Given the description of an element on the screen output the (x, y) to click on. 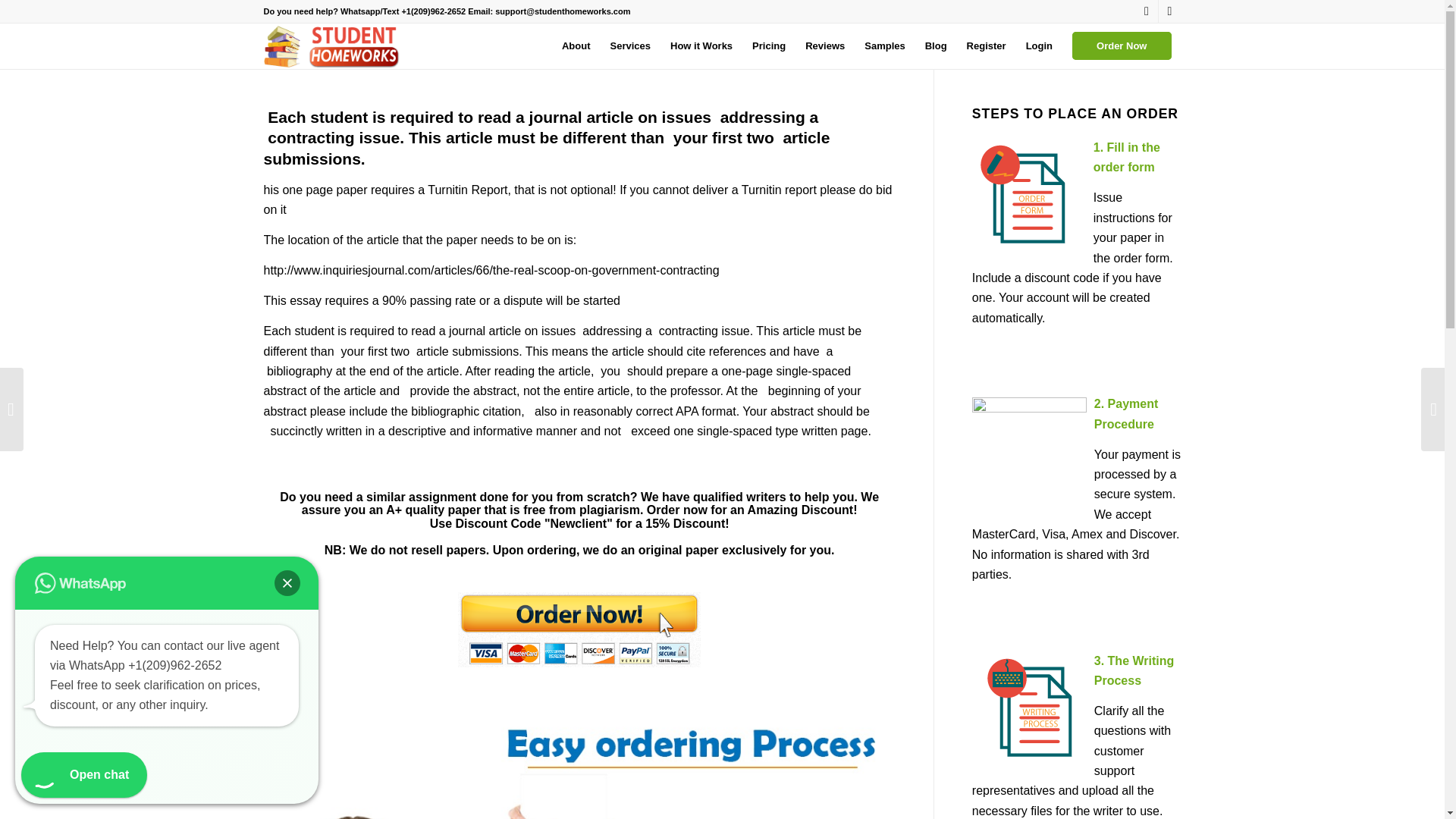
Dribbble (1169, 11)
Pricing (768, 45)
Order Now (1121, 45)
Asset-3 (334, 45)
Twitter (1146, 11)
How it Works (701, 45)
Login (1039, 45)
Blog (935, 45)
About (575, 45)
Register (986, 45)
Services (630, 45)
Samples (884, 45)
Close (287, 583)
Reviews (824, 45)
